Given the description of an element on the screen output the (x, y) to click on. 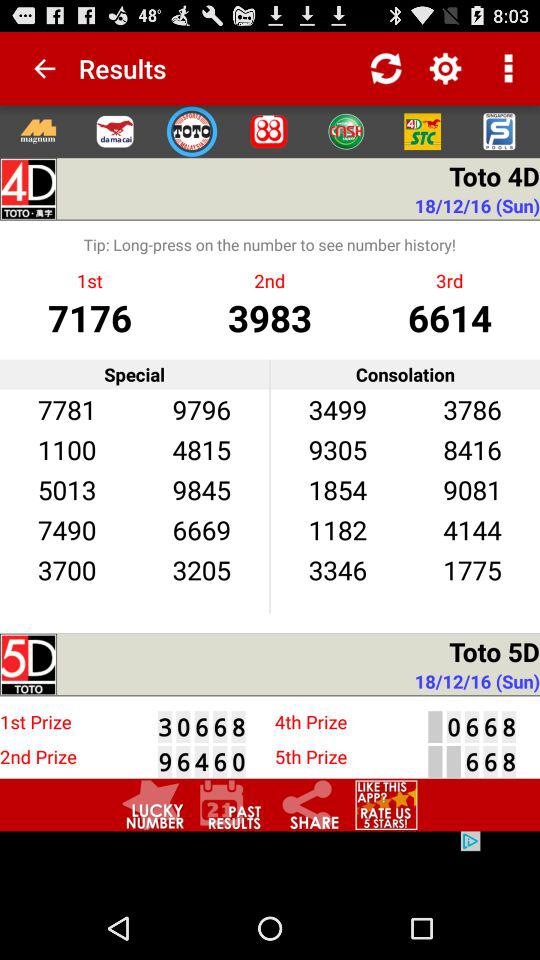
press the icon next to the 7490 (201, 569)
